Given the description of an element on the screen output the (x, y) to click on. 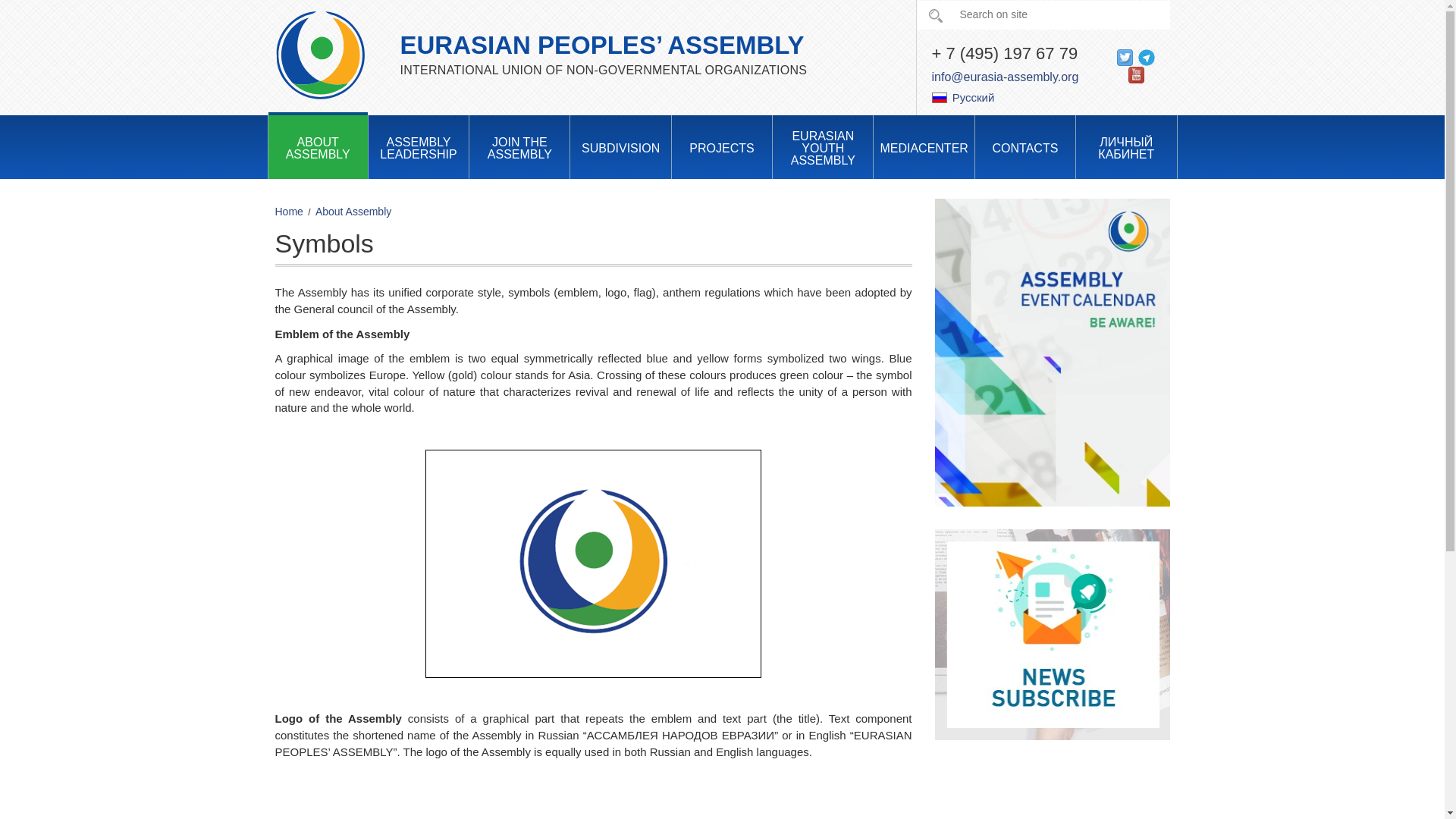
Home (320, 52)
ASSEMBLY LEADERSHIP (418, 146)
Twitter (1124, 56)
YouTube (1136, 73)
ABOUT ASSEMBLY (317, 146)
Telegram (1146, 56)
JOIN THE ASSEMBLY (518, 146)
Search (934, 15)
Search (934, 15)
Enter the terms you wish to search for. (1042, 14)
EURASIAN YOUTH ASSEMBLY (822, 147)
